Given the description of an element on the screen output the (x, y) to click on. 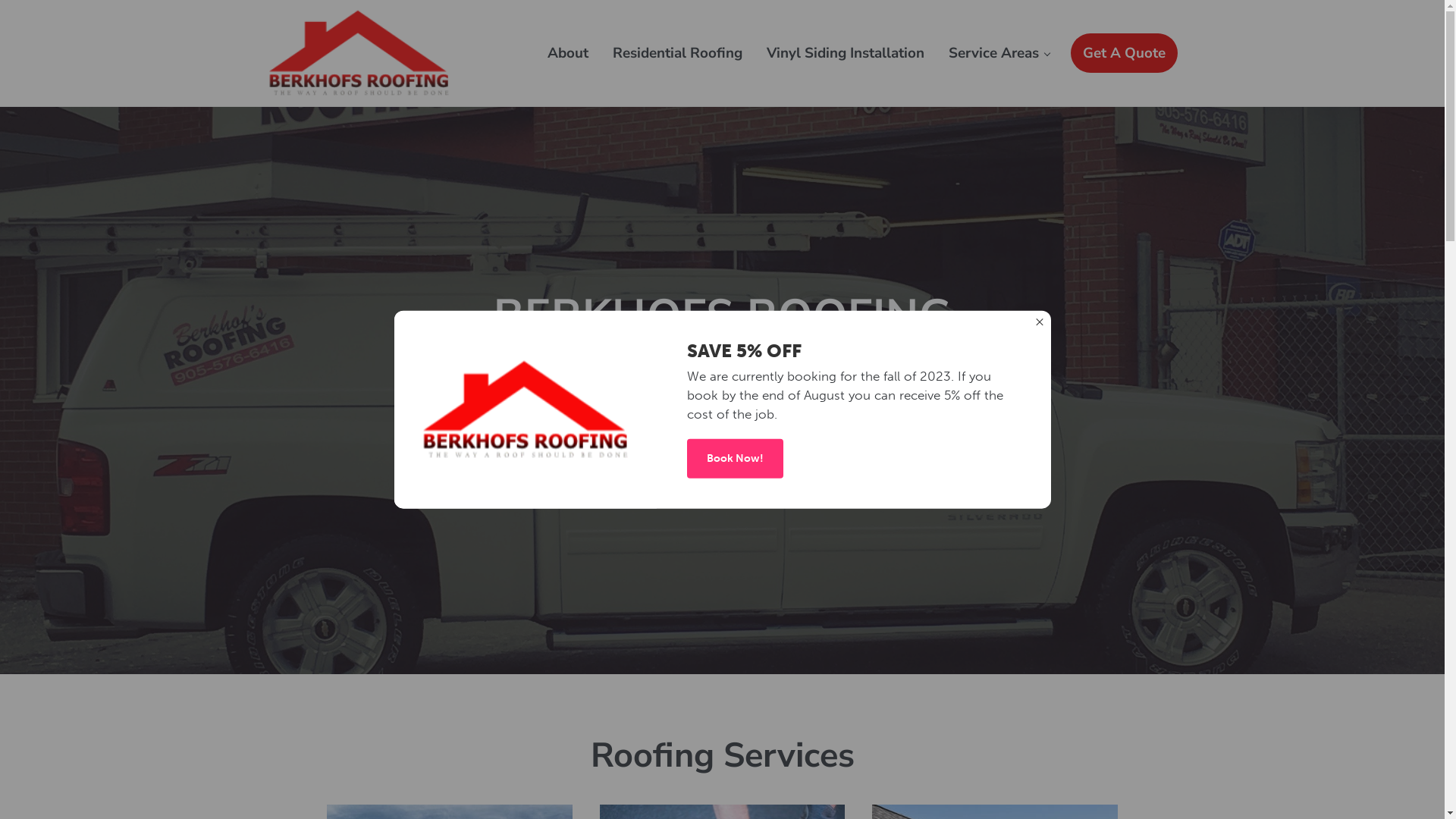
Service Areas Element type: text (997, 52)
Vinyl Siding Installation Element type: text (844, 52)
About Element type: text (567, 52)
Book Now! Element type: text (735, 458)
Residential Roofing Element type: text (677, 52)
Get A Free Quote! Element type: text (721, 466)
Skip to main content Element type: text (0, 0)
Get A Quote Element type: text (1123, 53)
